Given the description of an element on the screen output the (x, y) to click on. 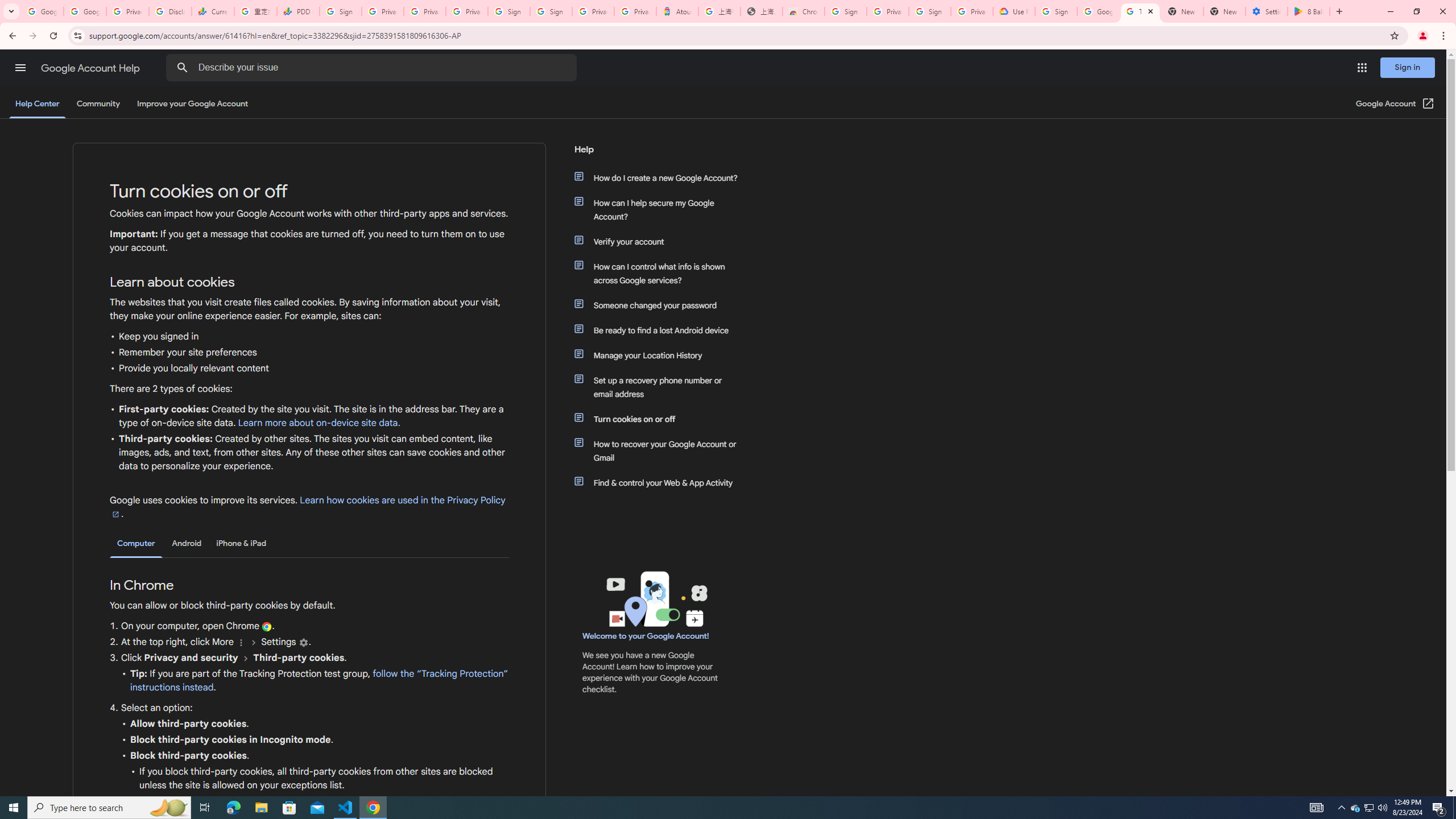
Sign in - Google Accounts (340, 11)
Set up a recovery phone number or email address (661, 387)
Sign in - Google Accounts (550, 11)
How to recover your Google Account or Gmail (661, 450)
Turn cookies on or off - Computer - Google Account Help (1139, 11)
How can I help secure my Google Account? (661, 209)
Find & control your Web & App Activity (661, 482)
Sign in - Google Accounts (509, 11)
Computer (136, 543)
Someone changed your password (661, 305)
How do I create a new Google Account? (661, 177)
Android (186, 542)
